Given the description of an element on the screen output the (x, y) to click on. 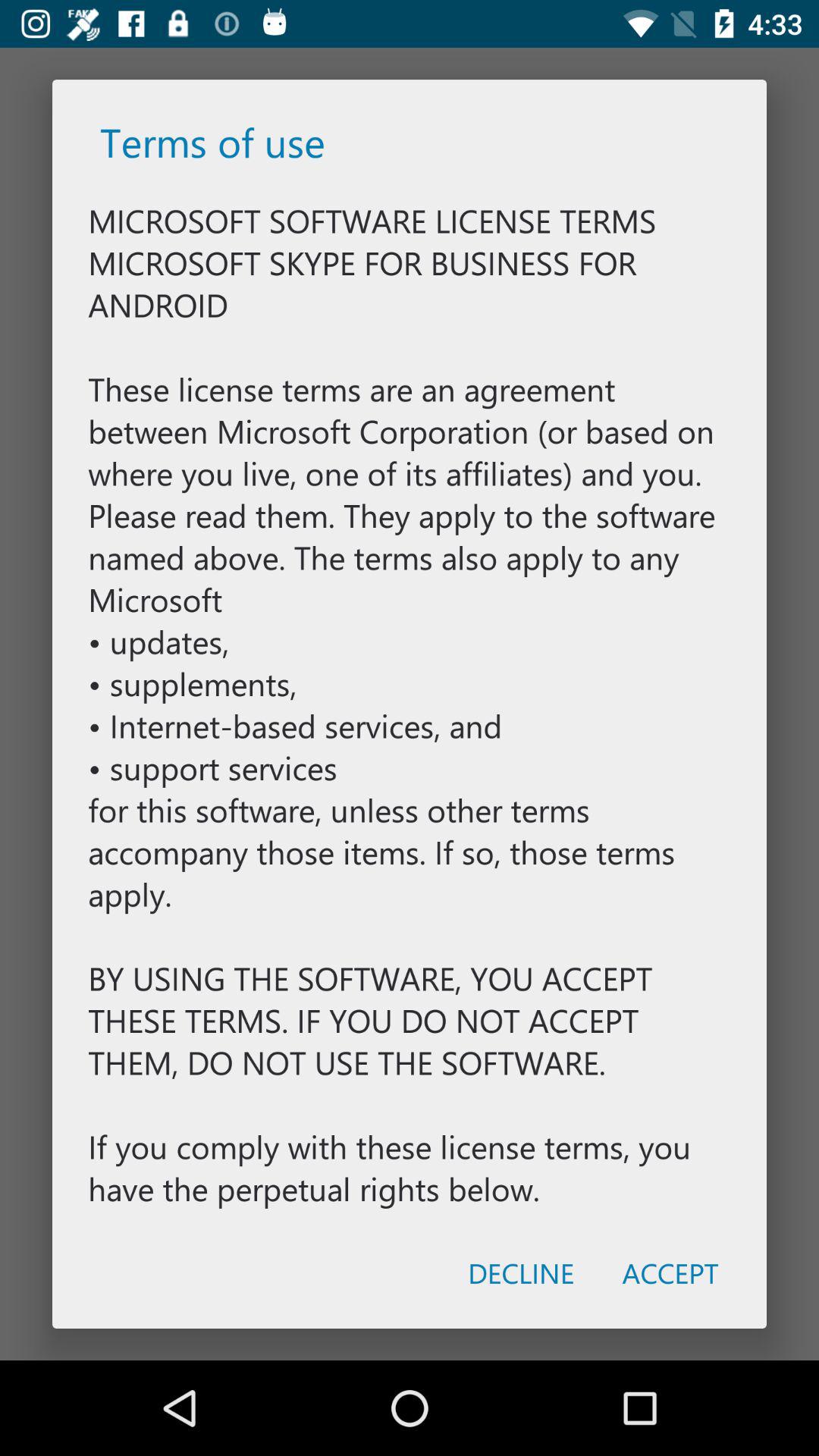
select the button next to decline item (670, 1272)
